Given the description of an element on the screen output the (x, y) to click on. 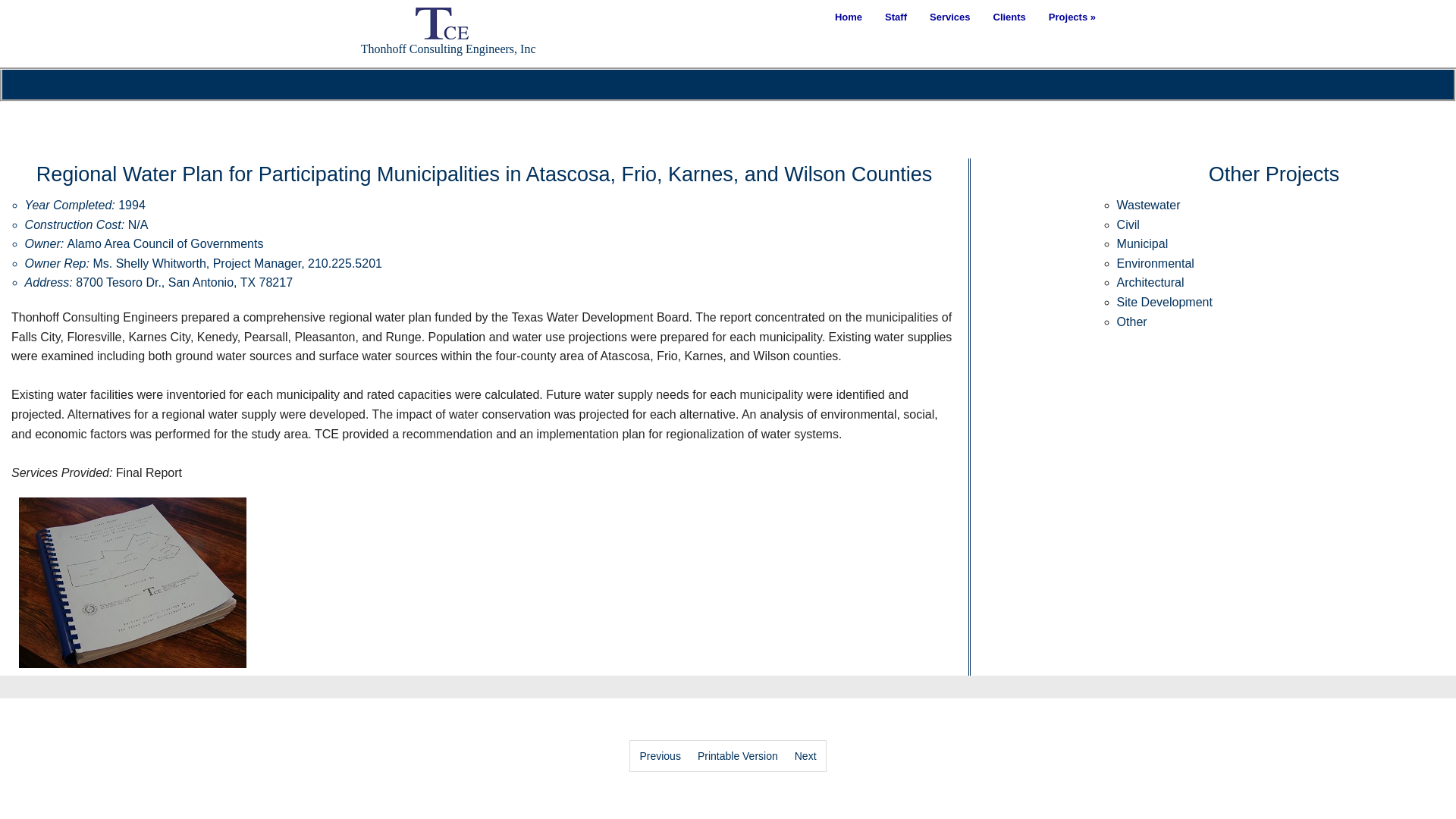
Thonhoff Consulting Engineers, Inc (442, 31)
Home (848, 17)
Printable Version (737, 756)
Architectural (1150, 282)
Next (805, 756)
Site Development (1164, 301)
Pic 1 (132, 582)
Services (949, 17)
Other (1131, 321)
Clients (1008, 17)
Previous (659, 756)
Municipal (1142, 243)
Staff (895, 17)
Wastewater (1148, 205)
Civil (1128, 224)
